Given the description of an element on the screen output the (x, y) to click on. 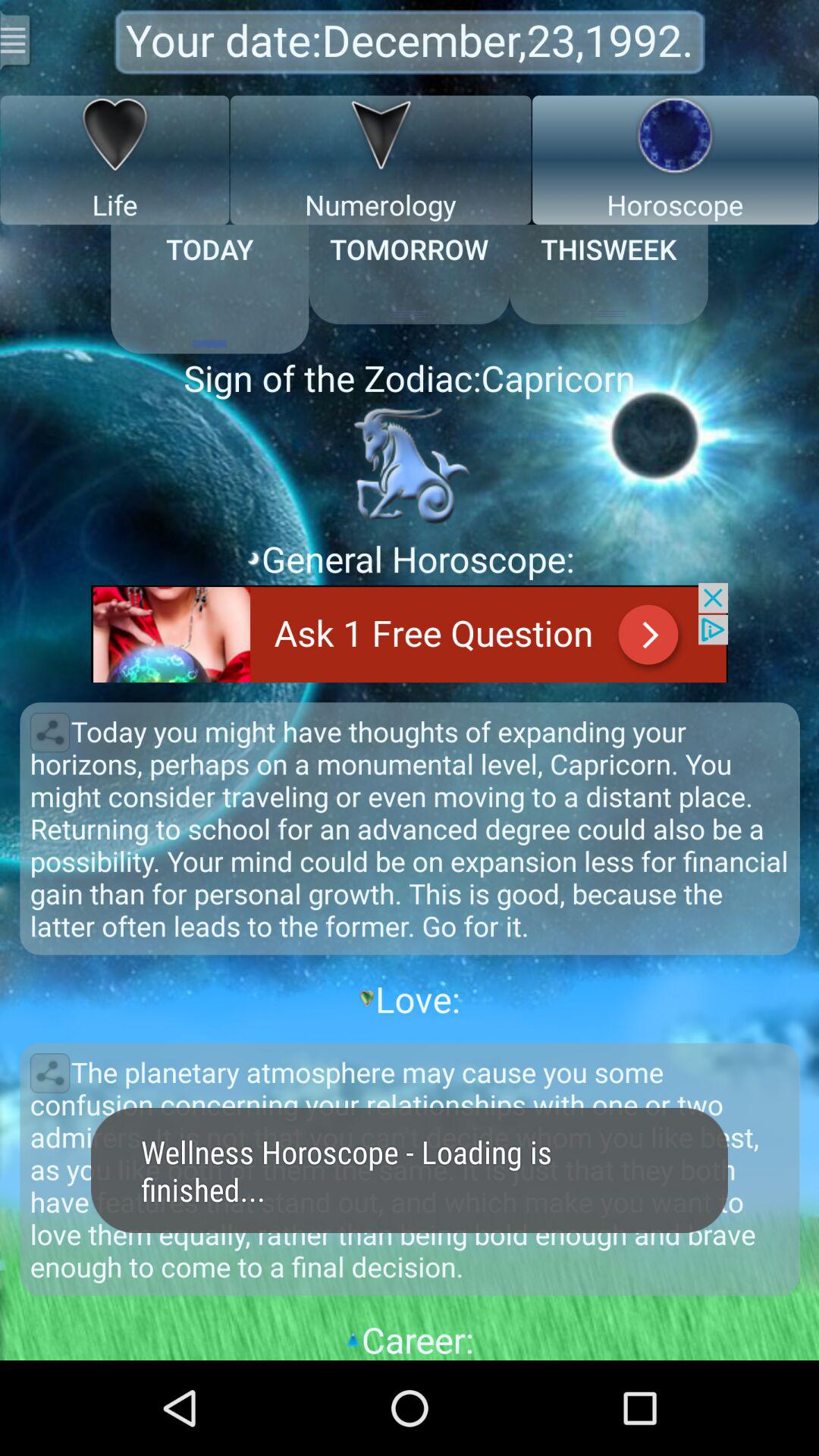
menu for more actions (17, 39)
